Given the description of an element on the screen output the (x, y) to click on. 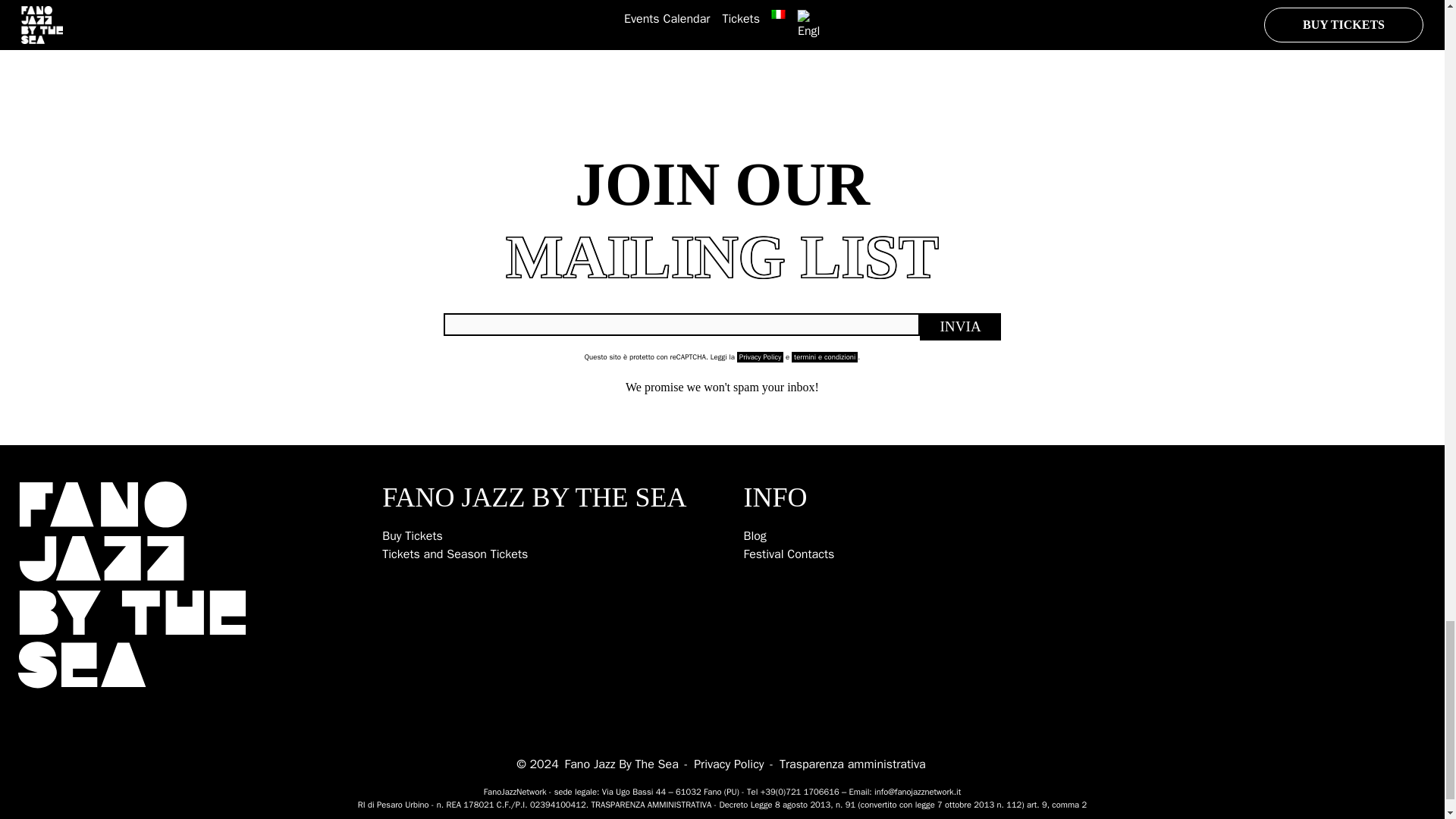
Fano Jazz By The Sea (621, 764)
Trasparenza amministrativa (852, 764)
Privacy Policy (728, 764)
INVIA (960, 326)
Fano Jazz by the Sea (131, 584)
Privacy Policy (759, 357)
Buy Tickets (411, 535)
Tickets and Season Tickets (454, 554)
termini e condizioni (824, 357)
Festival Contacts (788, 554)
